Given the description of an element on the screen output the (x, y) to click on. 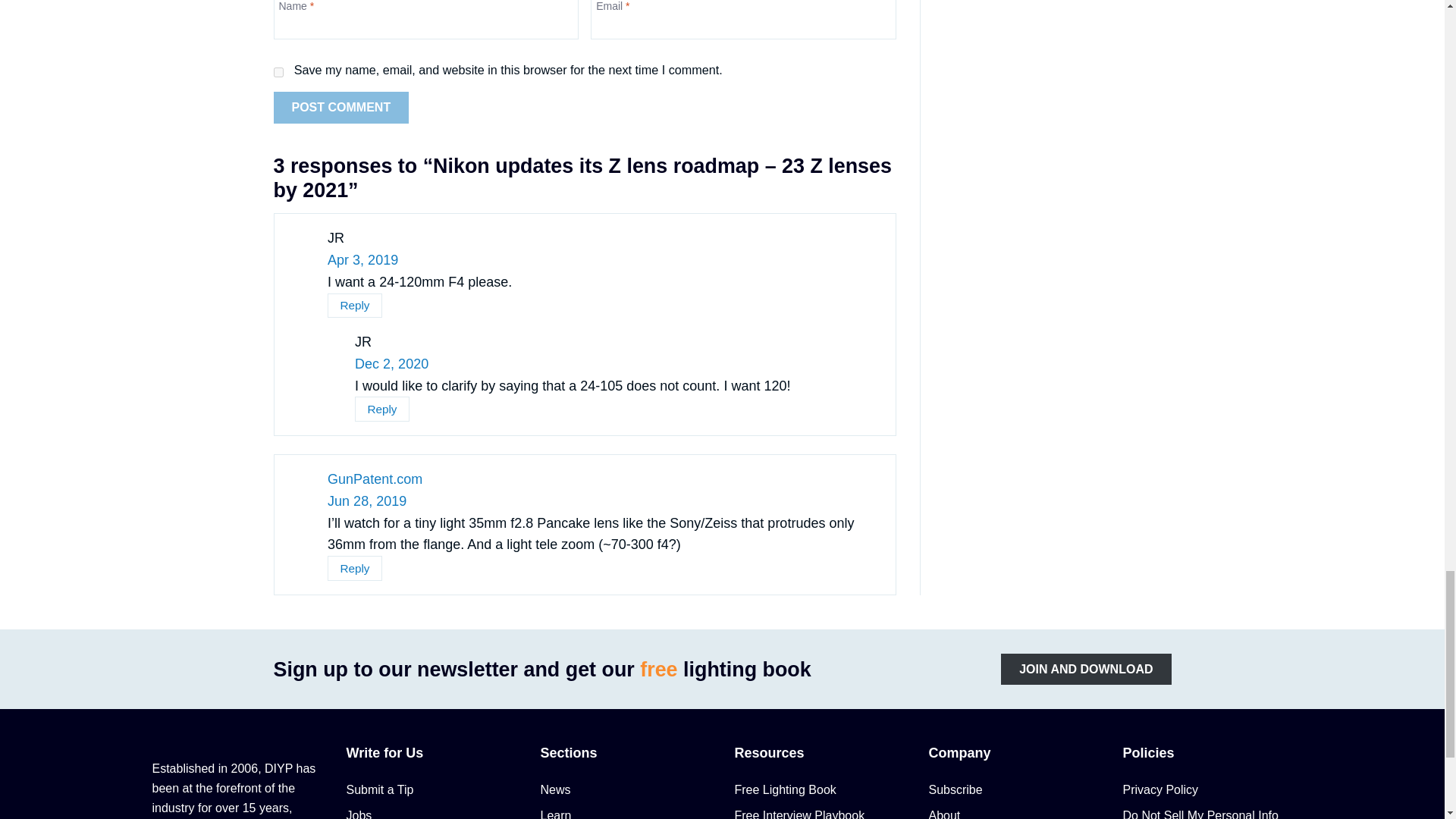
Post Comment (341, 107)
yes (277, 71)
